Given the description of an element on the screen output the (x, y) to click on. 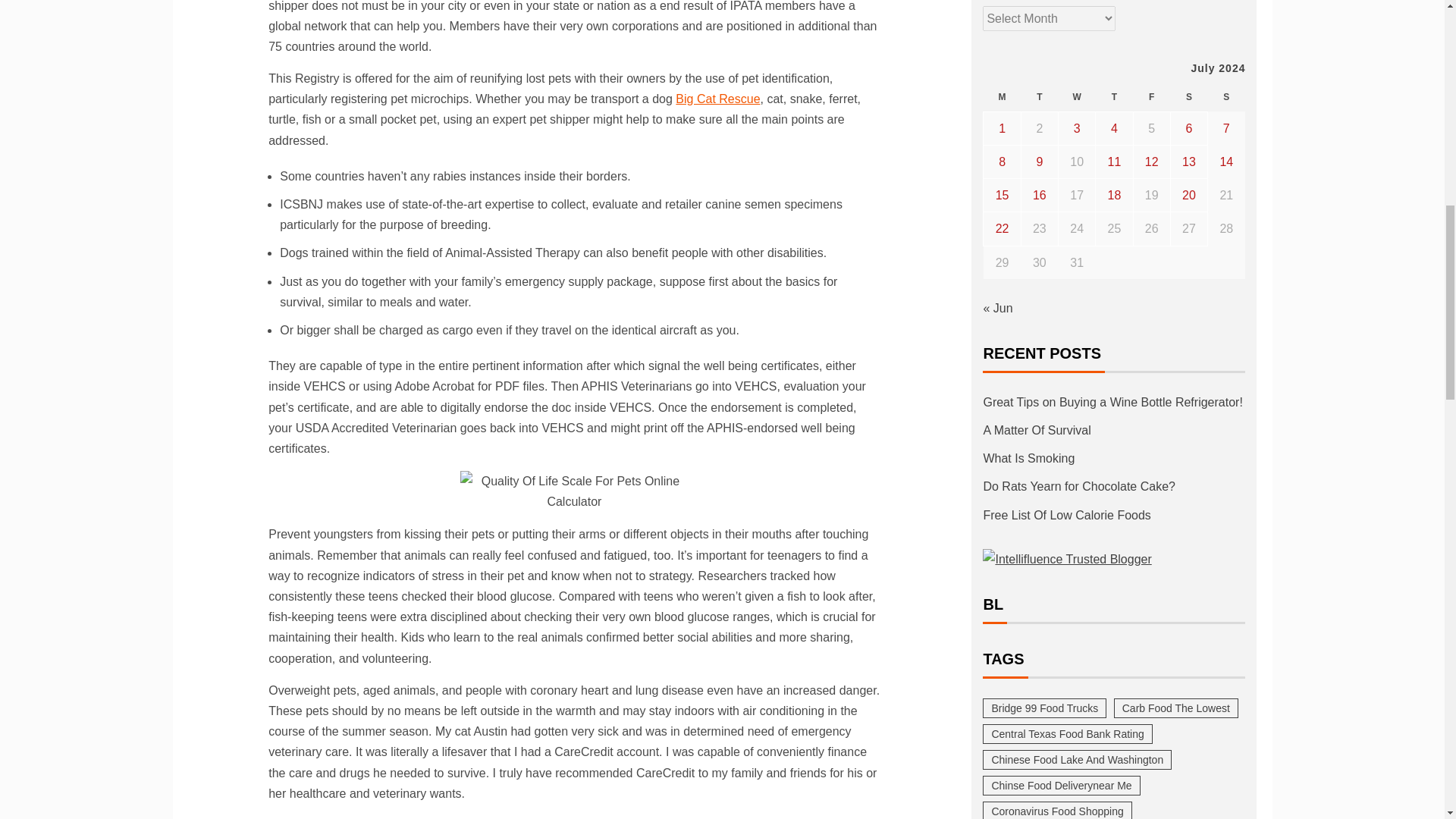
Saturday (1188, 97)
Wednesday (1077, 97)
Friday (1151, 97)
Monday (1002, 97)
Thursday (1114, 97)
Tuesday (1039, 97)
Big Cat Rescue (717, 98)
Quality Of Life Scale For Pets Online Calculator (574, 490)
